Given the description of an element on the screen output the (x, y) to click on. 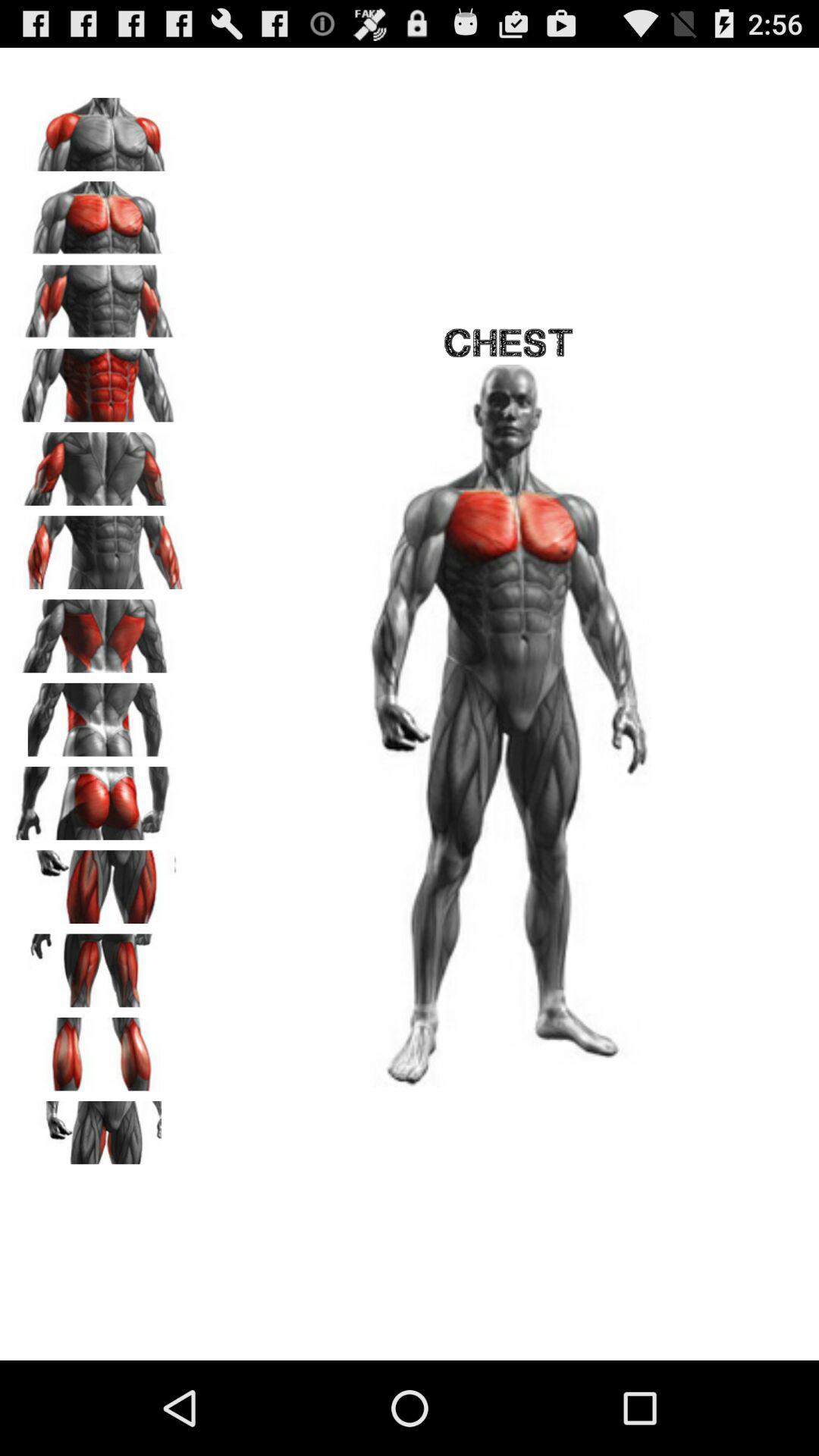
view the buttocks closer (99, 798)
